Given the description of an element on the screen output the (x, y) to click on. 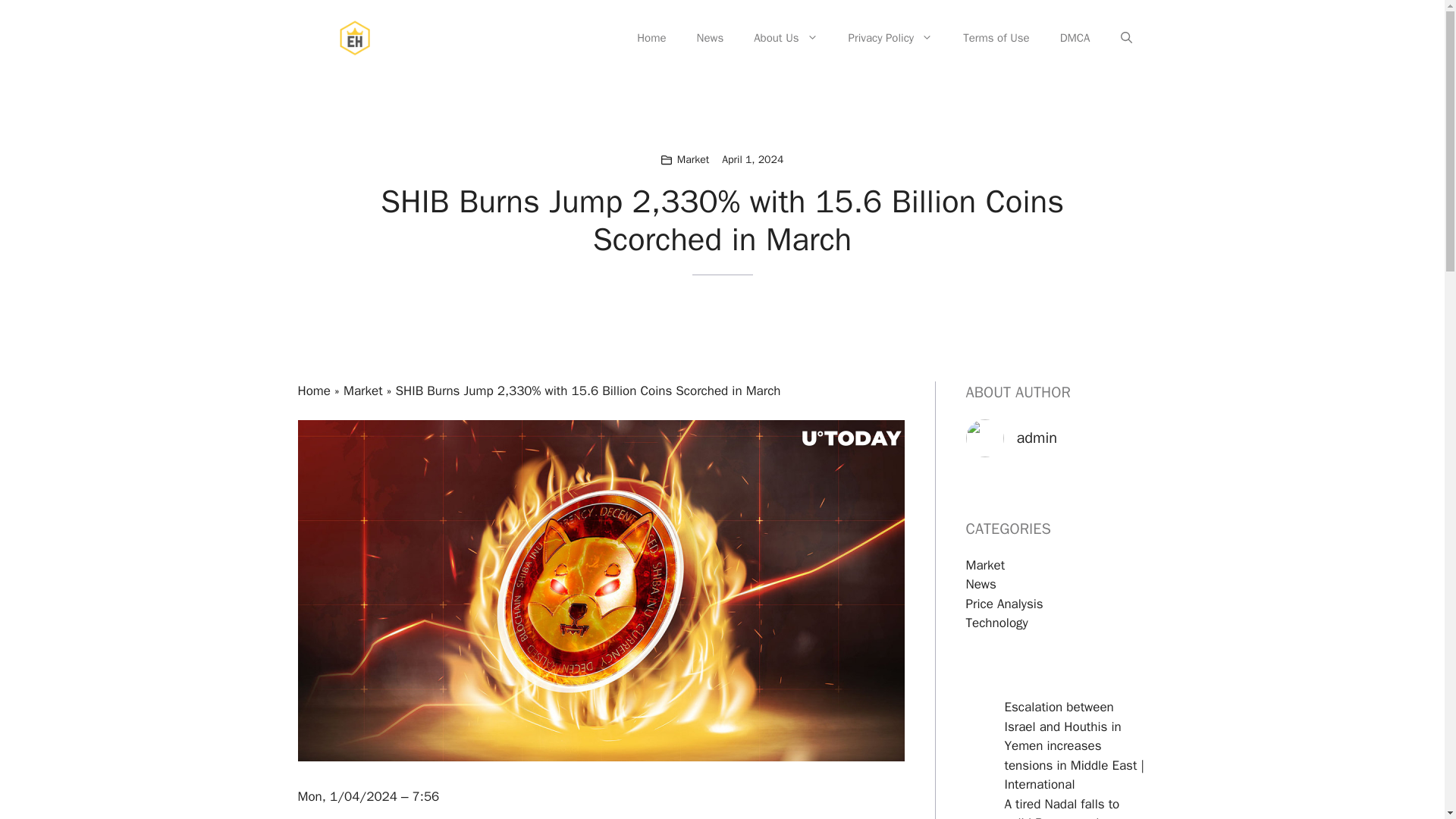
Privacy Policy (890, 37)
DMCA (1075, 37)
About Us (785, 37)
Home (651, 37)
Technology (996, 622)
Terms of Use (996, 37)
News (980, 584)
Home (313, 390)
Market (986, 565)
admin (1036, 437)
Price Analysis (1004, 603)
Market (362, 390)
Market (693, 159)
News (710, 37)
